Given the description of an element on the screen output the (x, y) to click on. 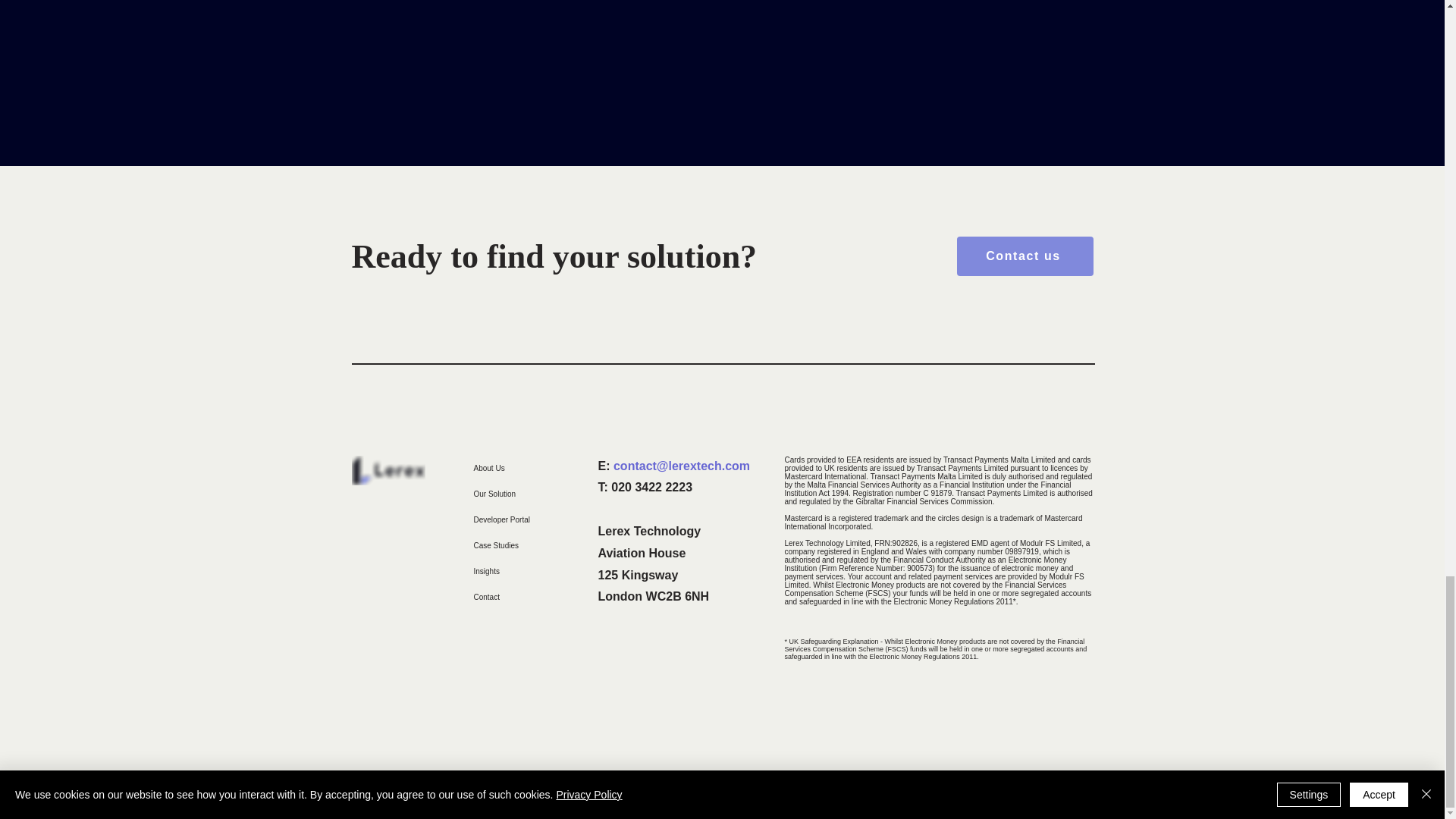
Contact (526, 597)
Case Studies (526, 545)
Contact us (1024, 256)
Our Solution (526, 493)
About Us (526, 468)
Insights (526, 571)
Developer Portal (526, 519)
